Given the description of an element on the screen output the (x, y) to click on. 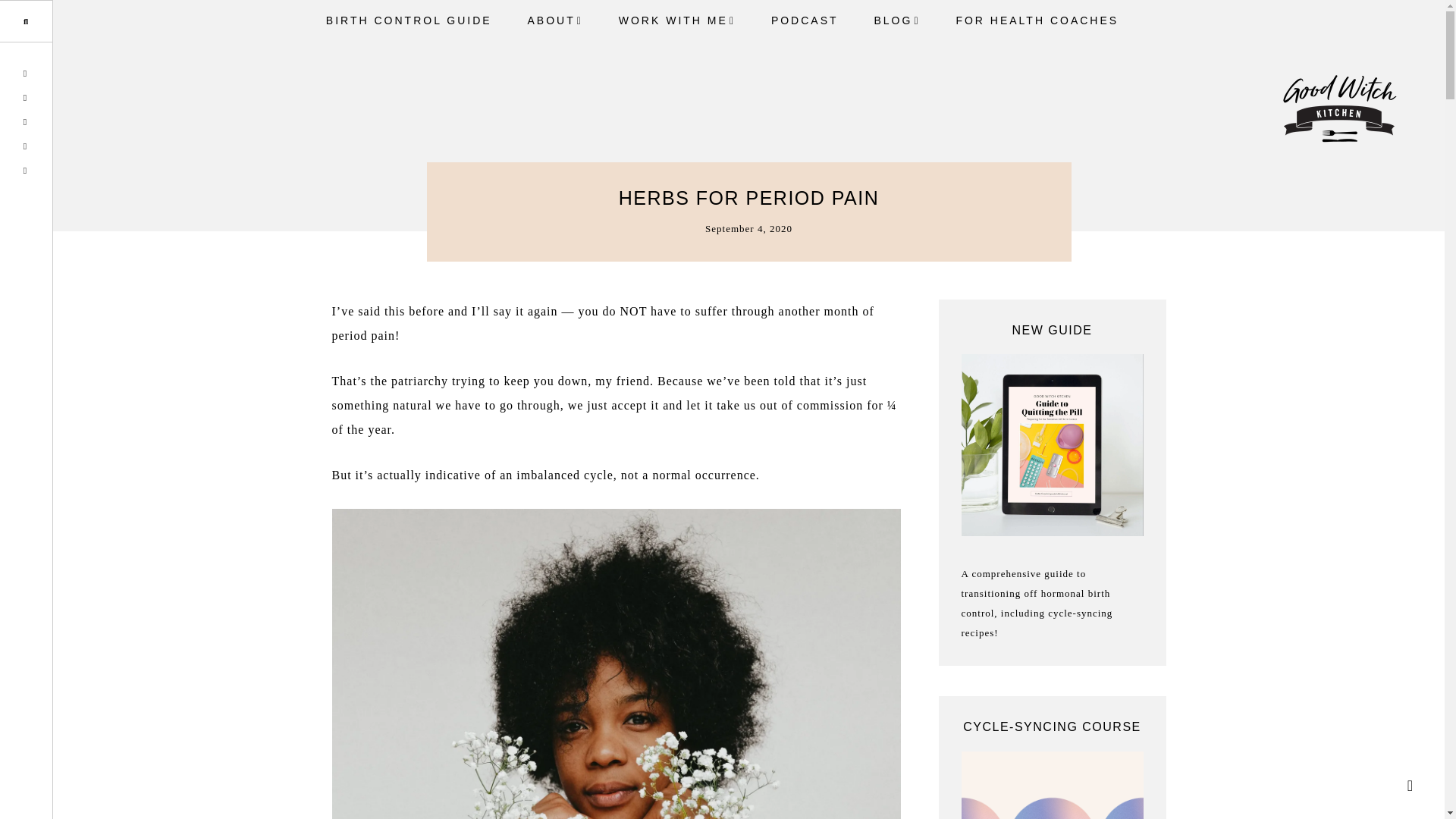
BIRTH CONTROL GUIDE (408, 20)
PODCAST (804, 20)
BLOG (896, 20)
ABOUT (555, 20)
FOR HEALTH COACHES (1037, 20)
WORK WITH ME (677, 20)
